Given the description of an element on the screen output the (x, y) to click on. 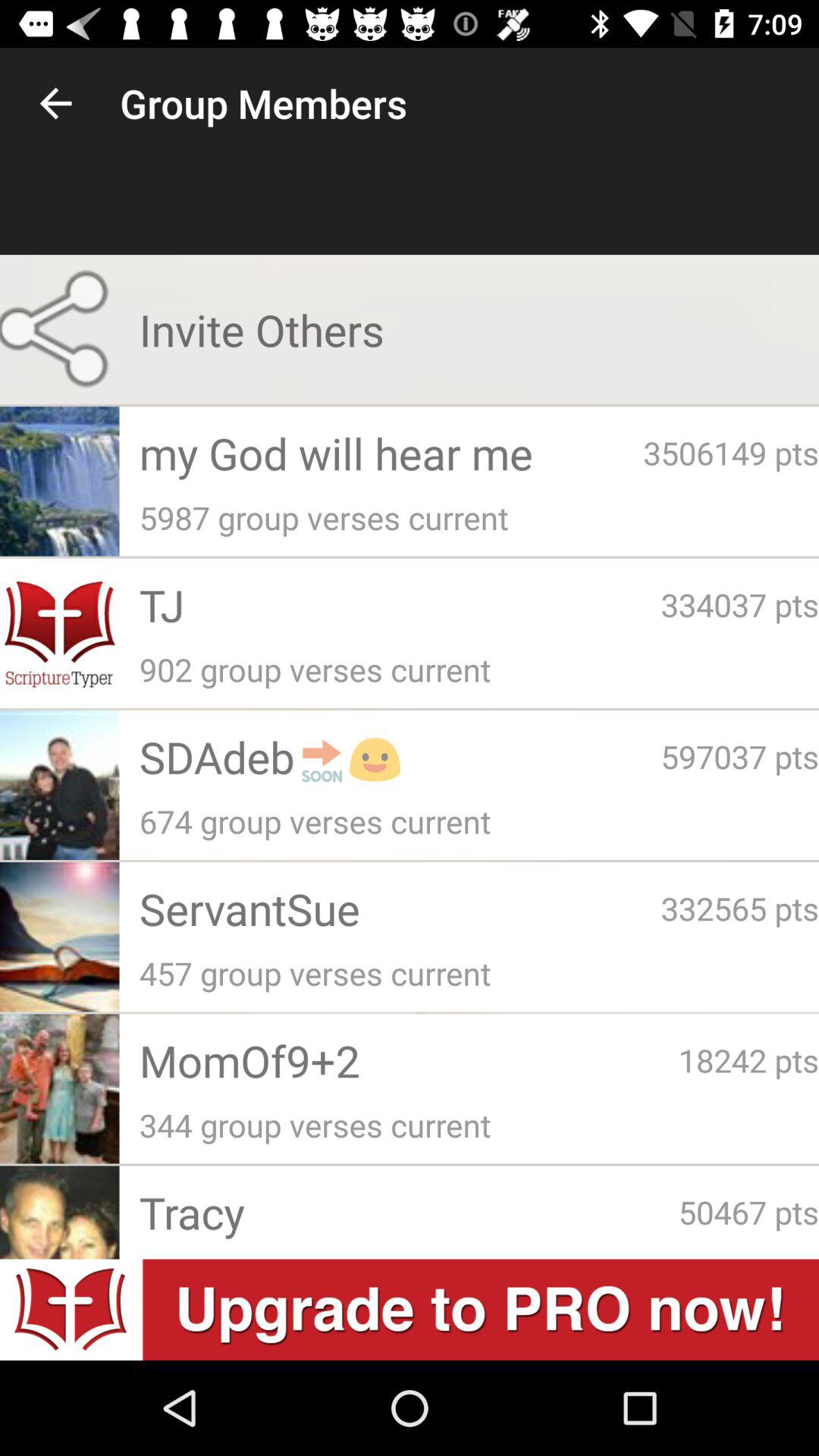
turn off the icon below the invite others (391, 452)
